Given the description of an element on the screen output the (x, y) to click on. 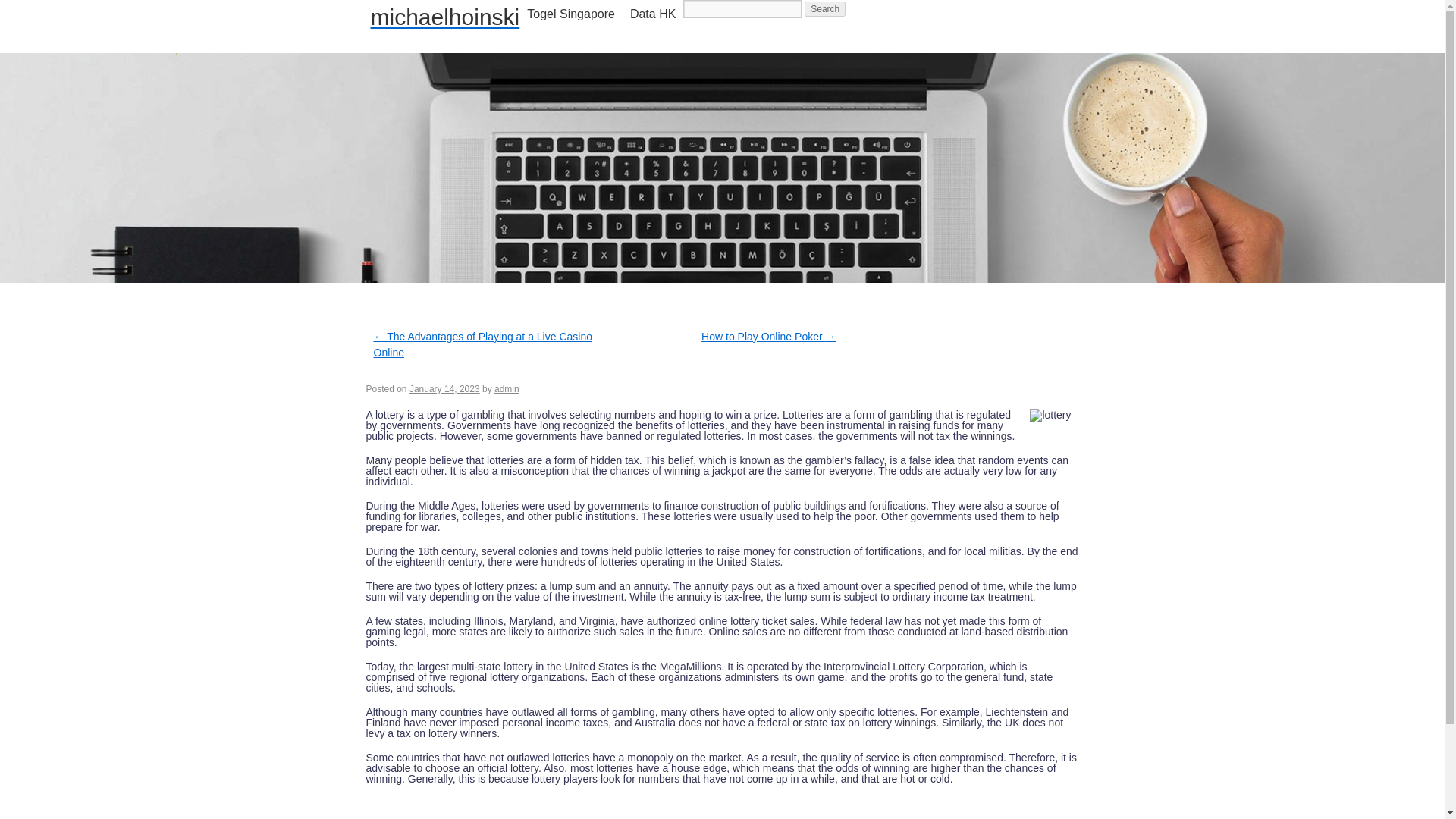
admin (507, 388)
View all posts by admin (507, 388)
michaelhoinski (444, 16)
January 14, 2023 (444, 388)
Data HK (652, 14)
10:15 pm (444, 388)
Search (825, 8)
Search (825, 8)
Togel Singapore (571, 14)
